Given the description of an element on the screen output the (x, y) to click on. 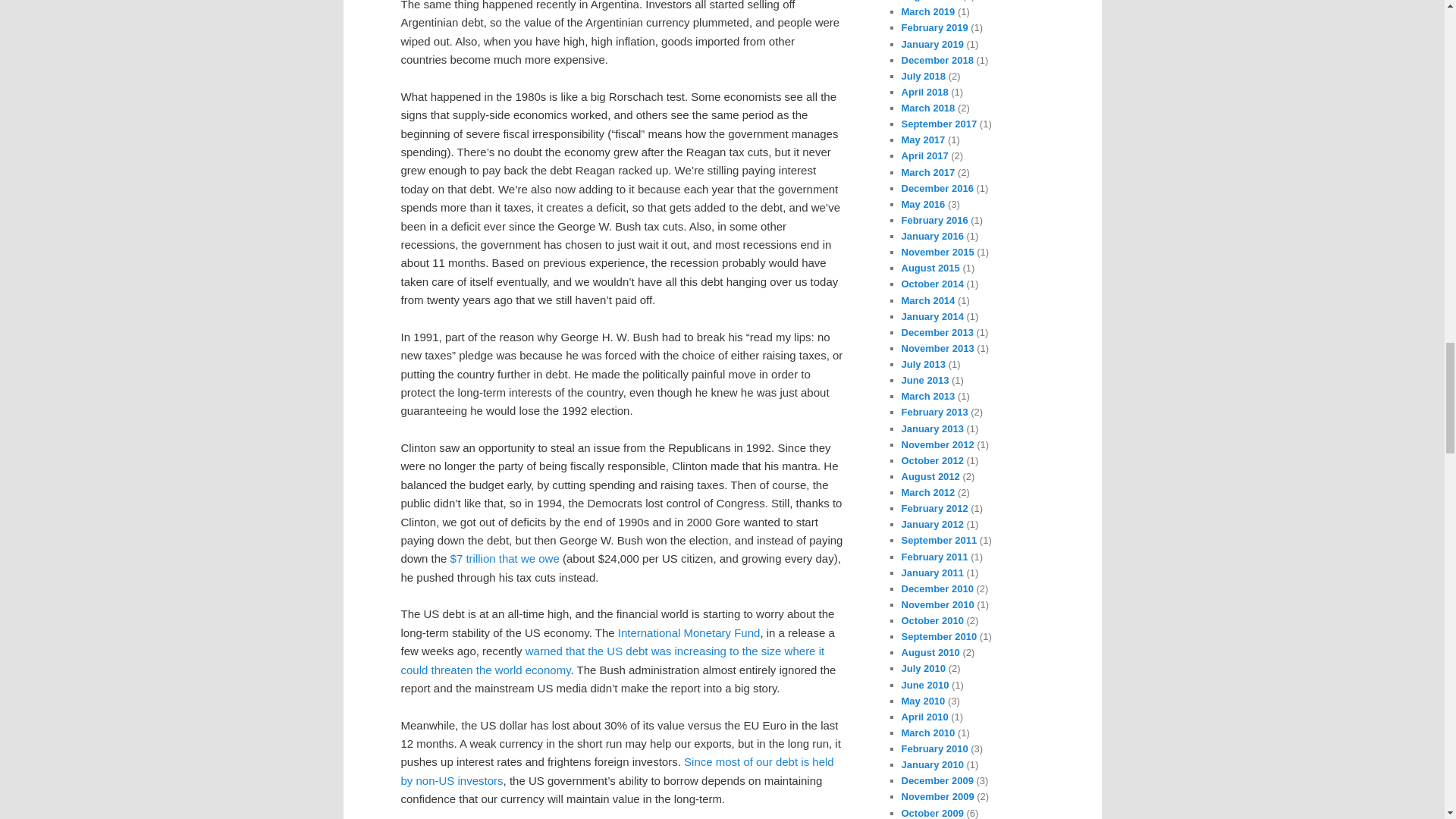
International Monetary Fund (688, 632)
Since most of our debt is held by non-US investors (616, 770)
